Given the description of an element on the screen output the (x, y) to click on. 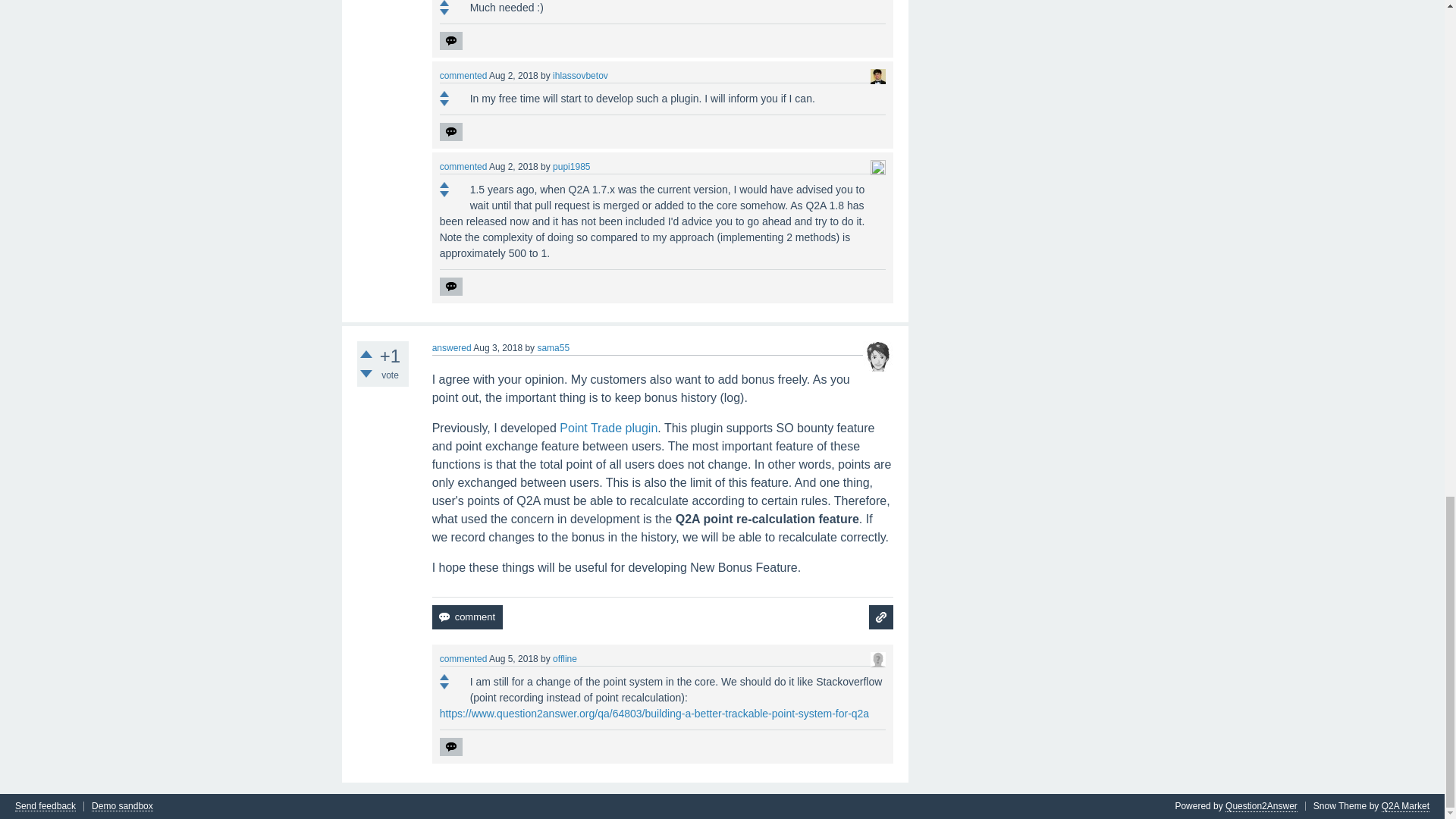
Click to vote up (443, 2)
reply (451, 131)
reply (451, 40)
